Given the description of an element on the screen output the (x, y) to click on. 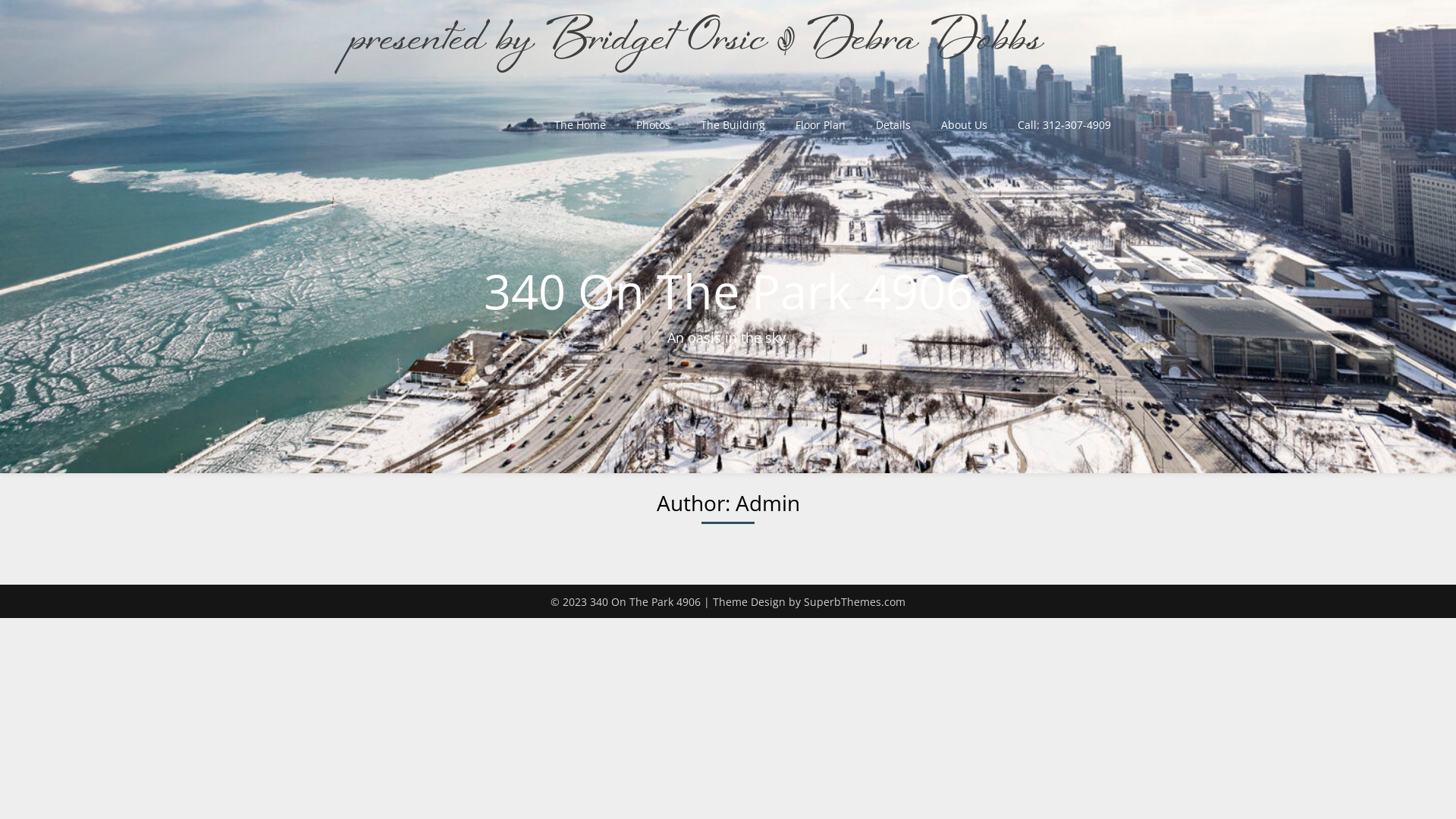
About Us Element type: text (963, 124)
SuperbThemes.com Element type: text (854, 601)
Photos Element type: text (653, 124)
The Building Element type: text (732, 124)
Details Element type: text (892, 124)
Floor Plan Element type: text (820, 124)
Call: 312-307-4909 Element type: text (1064, 124)
The Home Element type: text (580, 124)
